Given the description of an element on the screen output the (x, y) to click on. 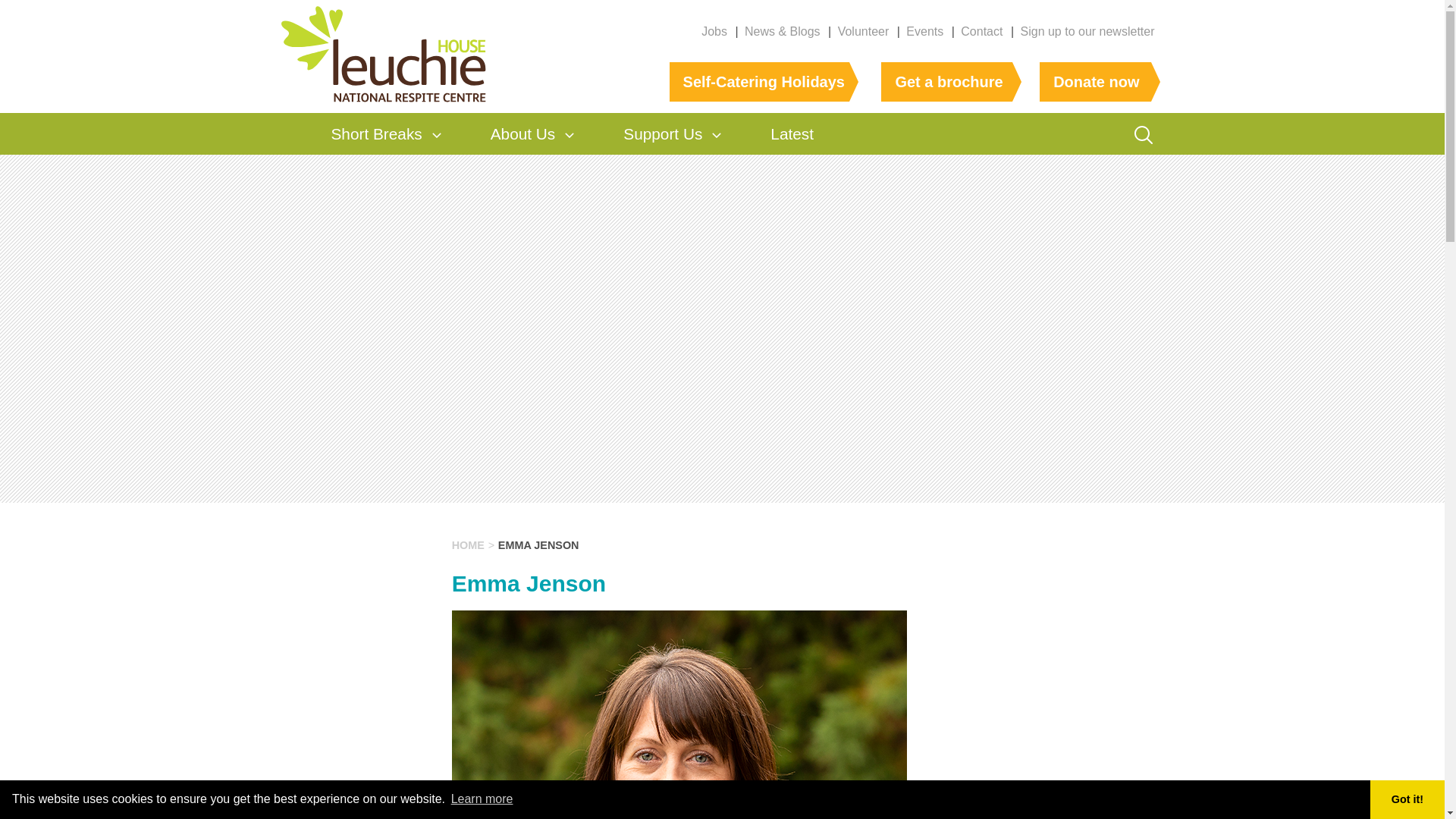
Donate now (1095, 81)
Volunteer (863, 31)
Get a brochure (945, 81)
Learn more (481, 798)
Contact (981, 31)
Self-Catering Holidays (758, 81)
Events (924, 31)
Sign up to our newsletter (1087, 31)
Jobs (713, 31)
Short Breaks (377, 133)
